Given the description of an element on the screen output the (x, y) to click on. 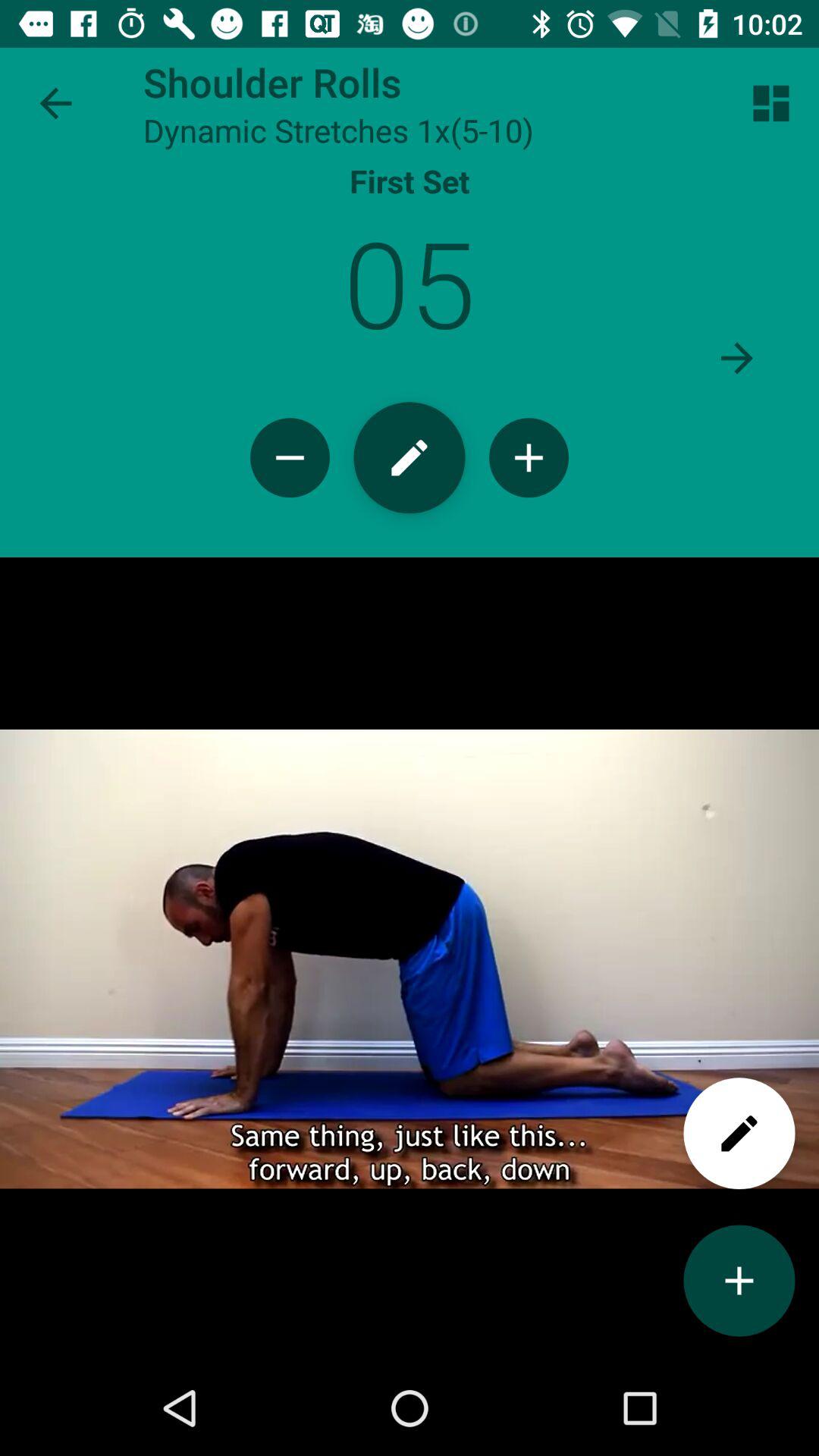
edit pencil icon (409, 457)
